Given the description of an element on the screen output the (x, y) to click on. 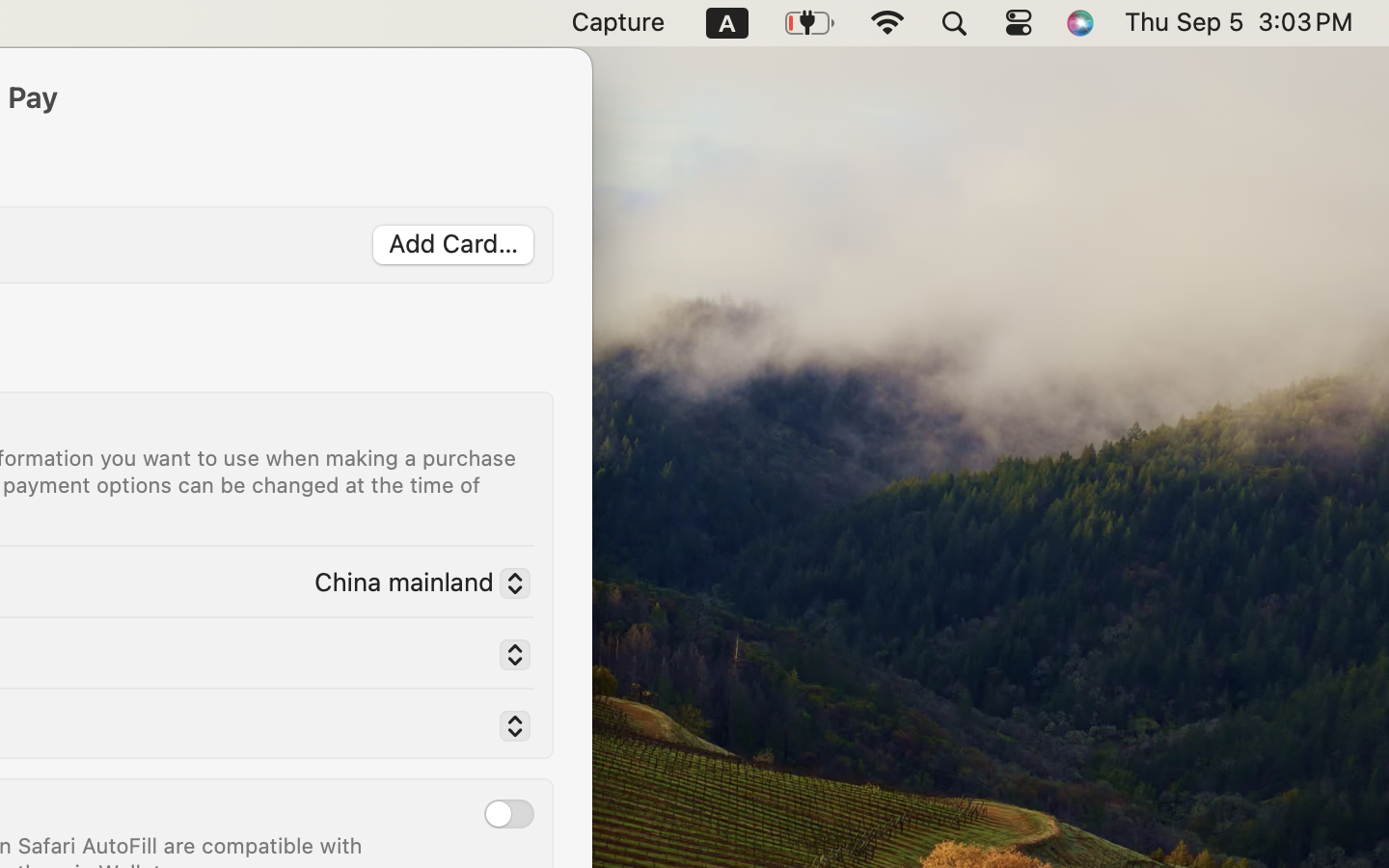
China mainland Element type: AXPopUpButton (414, 585)
